Given the description of an element on the screen output the (x, y) to click on. 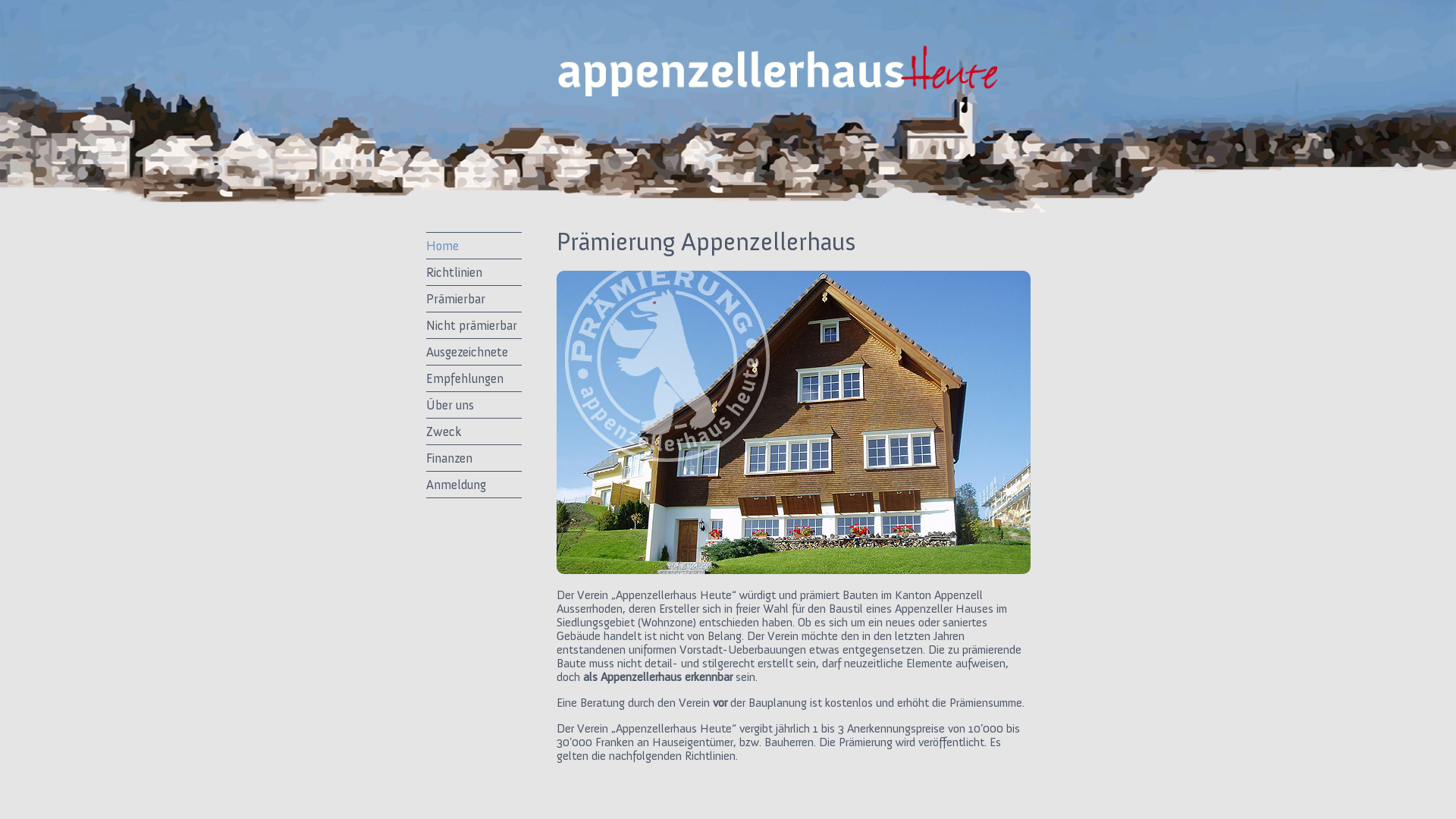
Zweck Element type: text (473, 431)
Ausgezeichnete Element type: text (473, 351)
Anmeldung Element type: text (473, 484)
Home Element type: text (473, 245)
Richtlinien Element type: text (473, 272)
Finanzen Element type: text (473, 457)
Empfehlungen Element type: text (473, 378)
